Given the description of an element on the screen output the (x, y) to click on. 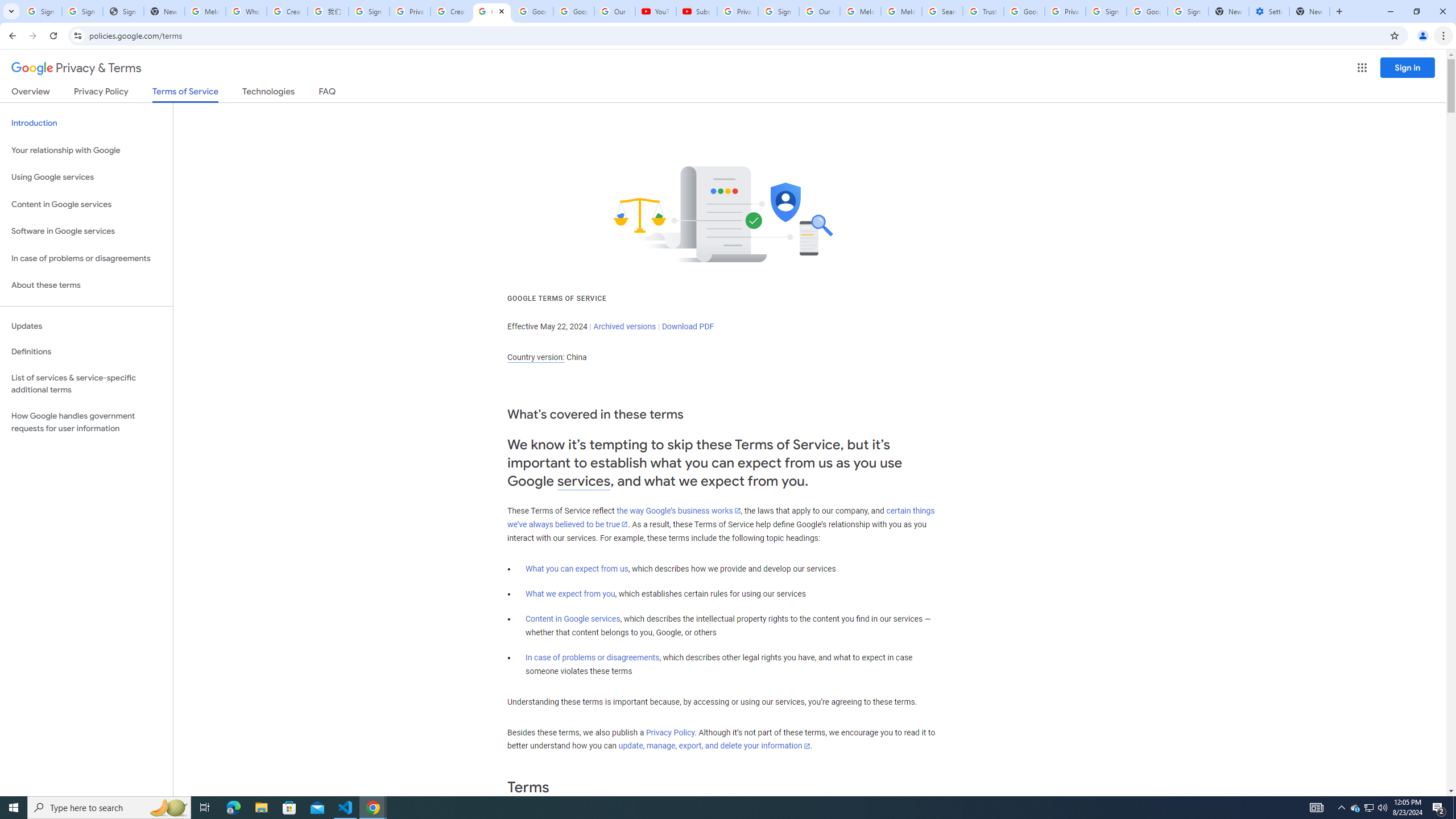
Introduction (86, 122)
About these terms (86, 284)
What you can expect from us (576, 568)
Sign in - Google Accounts (81, 11)
List of services & service-specific additional terms (86, 383)
Download PDF (687, 326)
Content in Google services (572, 618)
update, manage, export, and delete your information (714, 746)
Google Ads - Sign in (1023, 11)
Privacy & Terms (76, 68)
